Given the description of an element on the screen output the (x, y) to click on. 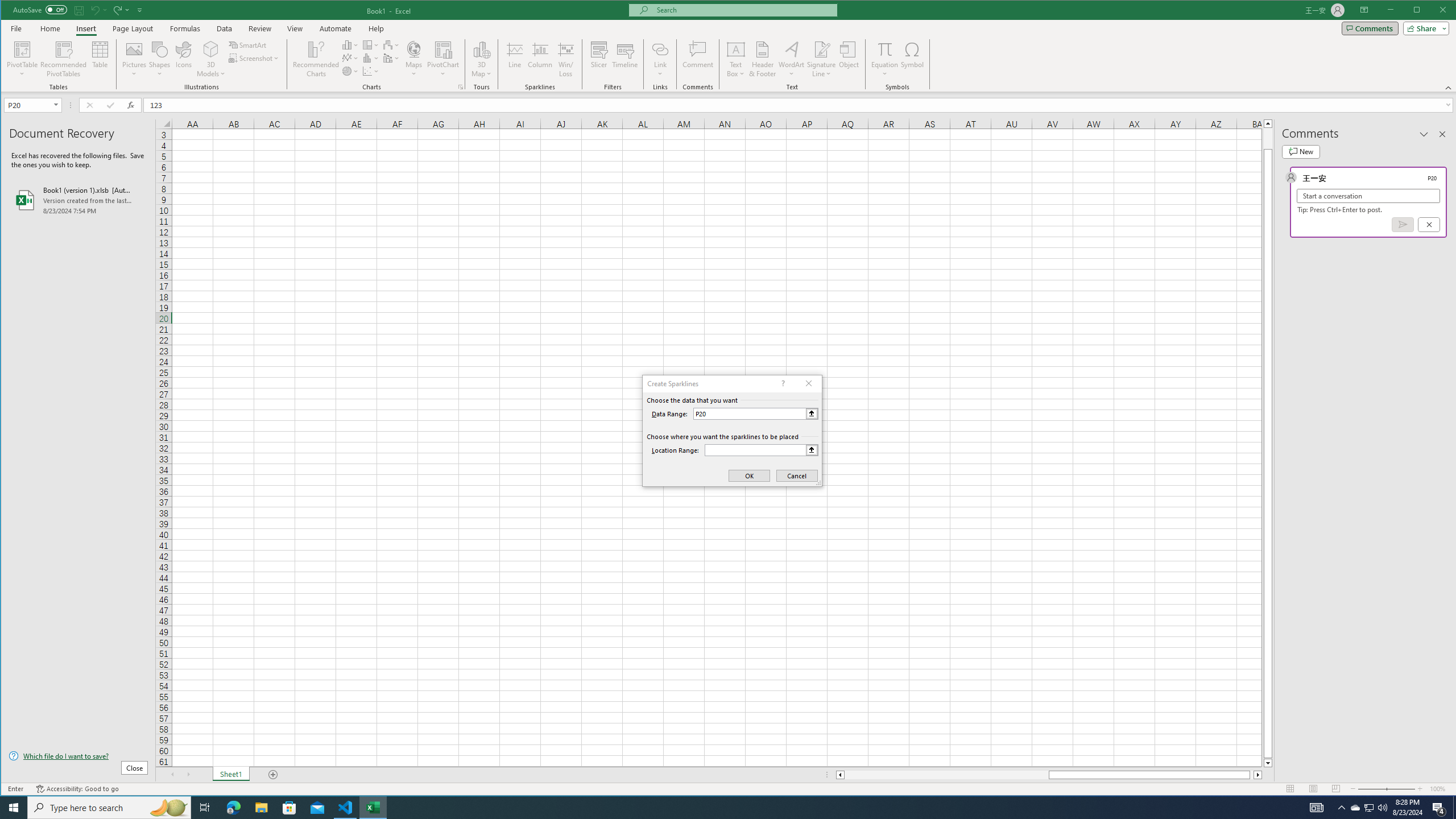
3D Map (481, 59)
New comment (1300, 151)
Table (100, 59)
Maps (413, 59)
Line (514, 59)
Recommended PivotTables (63, 59)
